Given the description of an element on the screen output the (x, y) to click on. 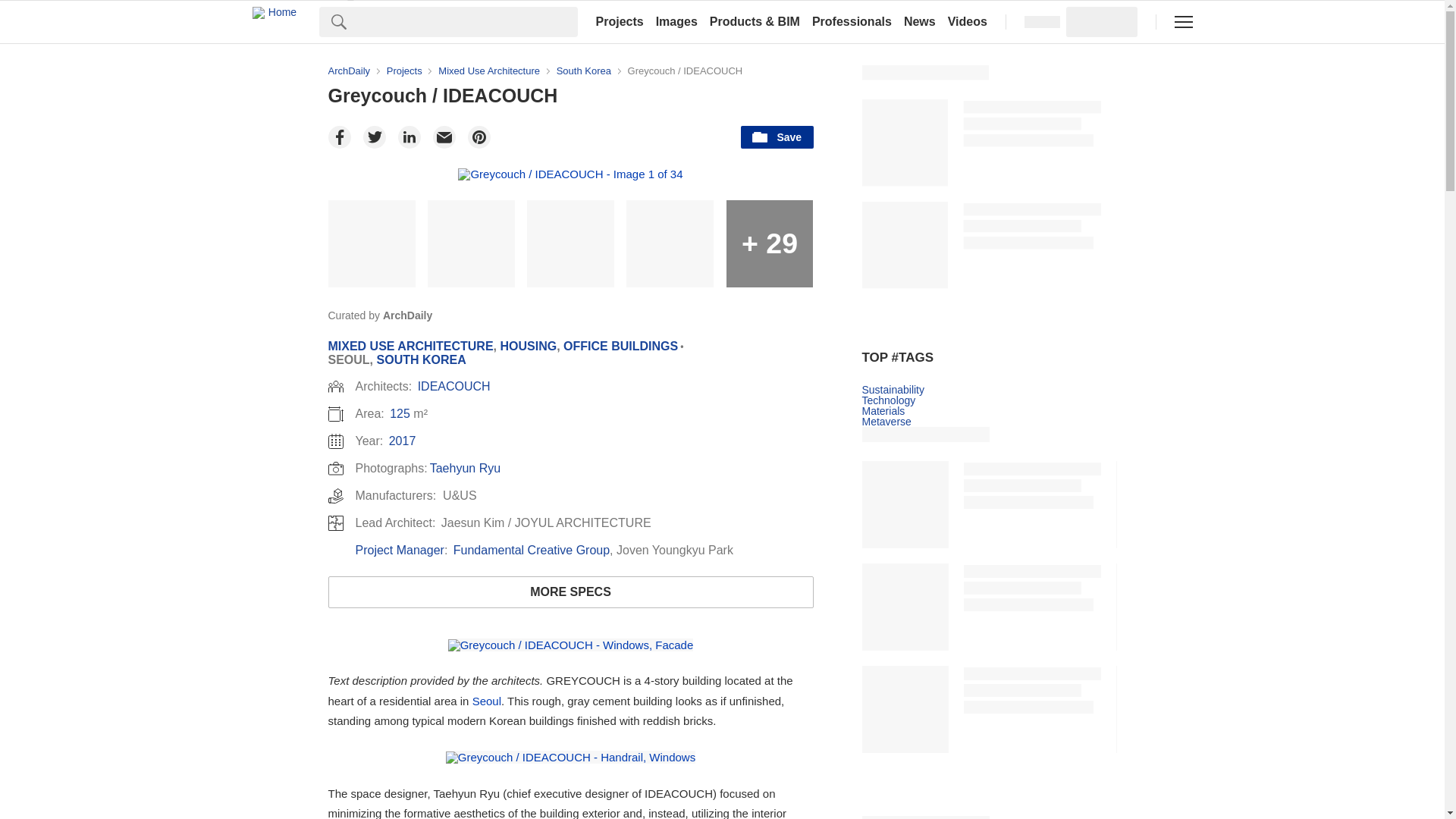
Projects (619, 21)
News (920, 21)
Professionals (852, 21)
Videos (967, 21)
Images (676, 21)
